Given the description of an element on the screen output the (x, y) to click on. 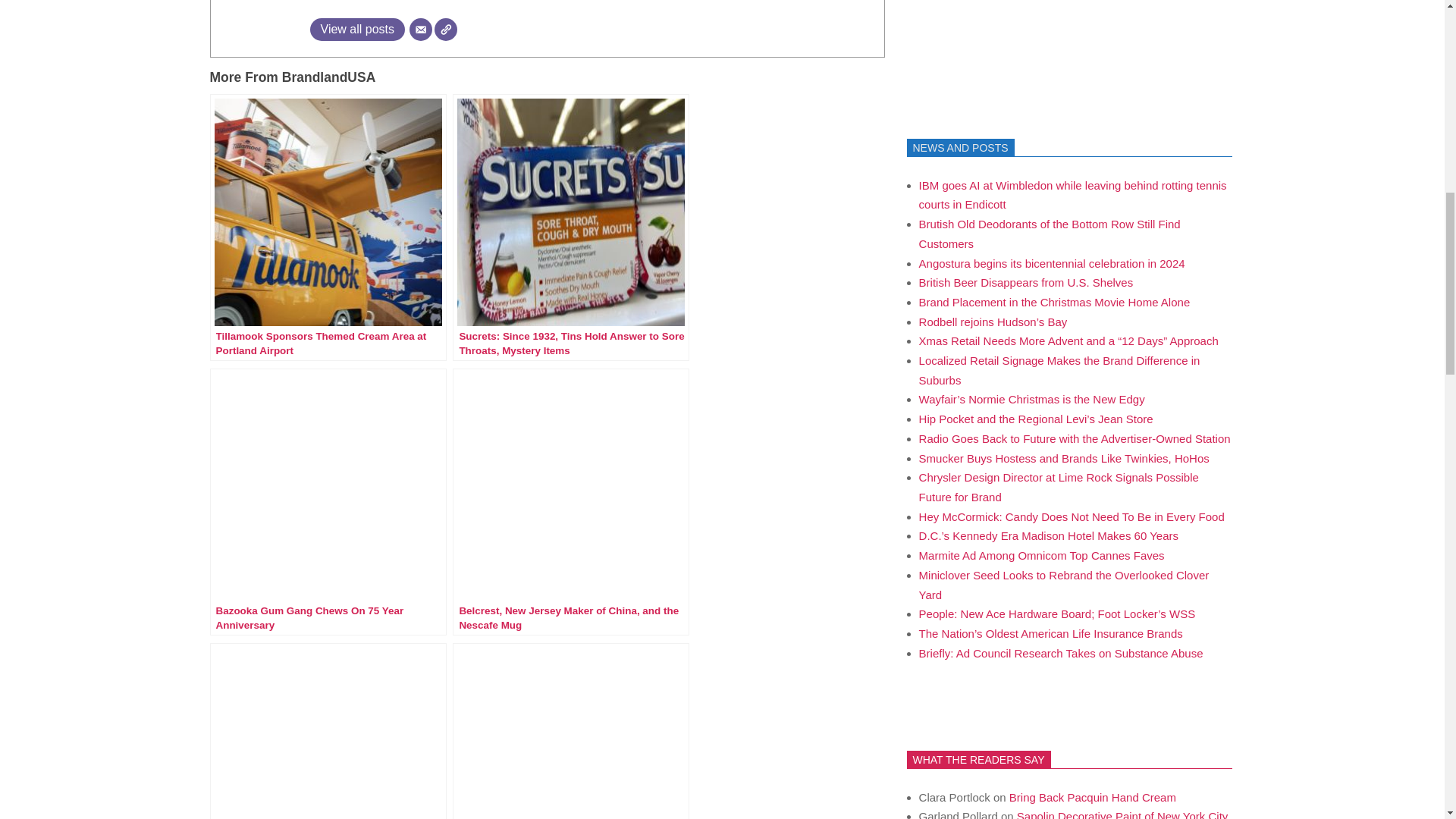
Advertisement (1020, 49)
View all posts (356, 29)
View all posts (356, 29)
